Given the description of an element on the screen output the (x, y) to click on. 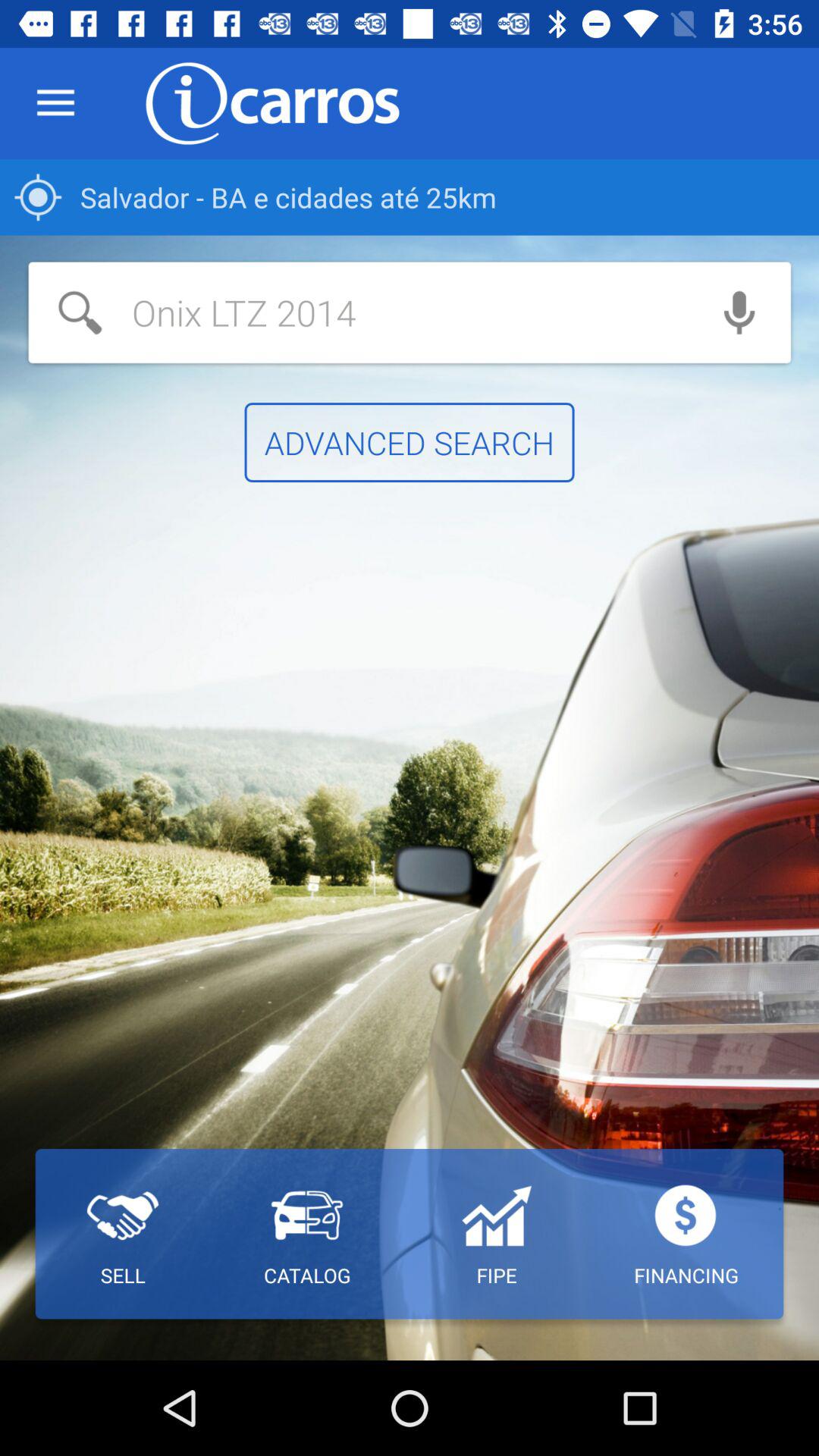
turn on icon next to fipe (306, 1233)
